Given the description of an element on the screen output the (x, y) to click on. 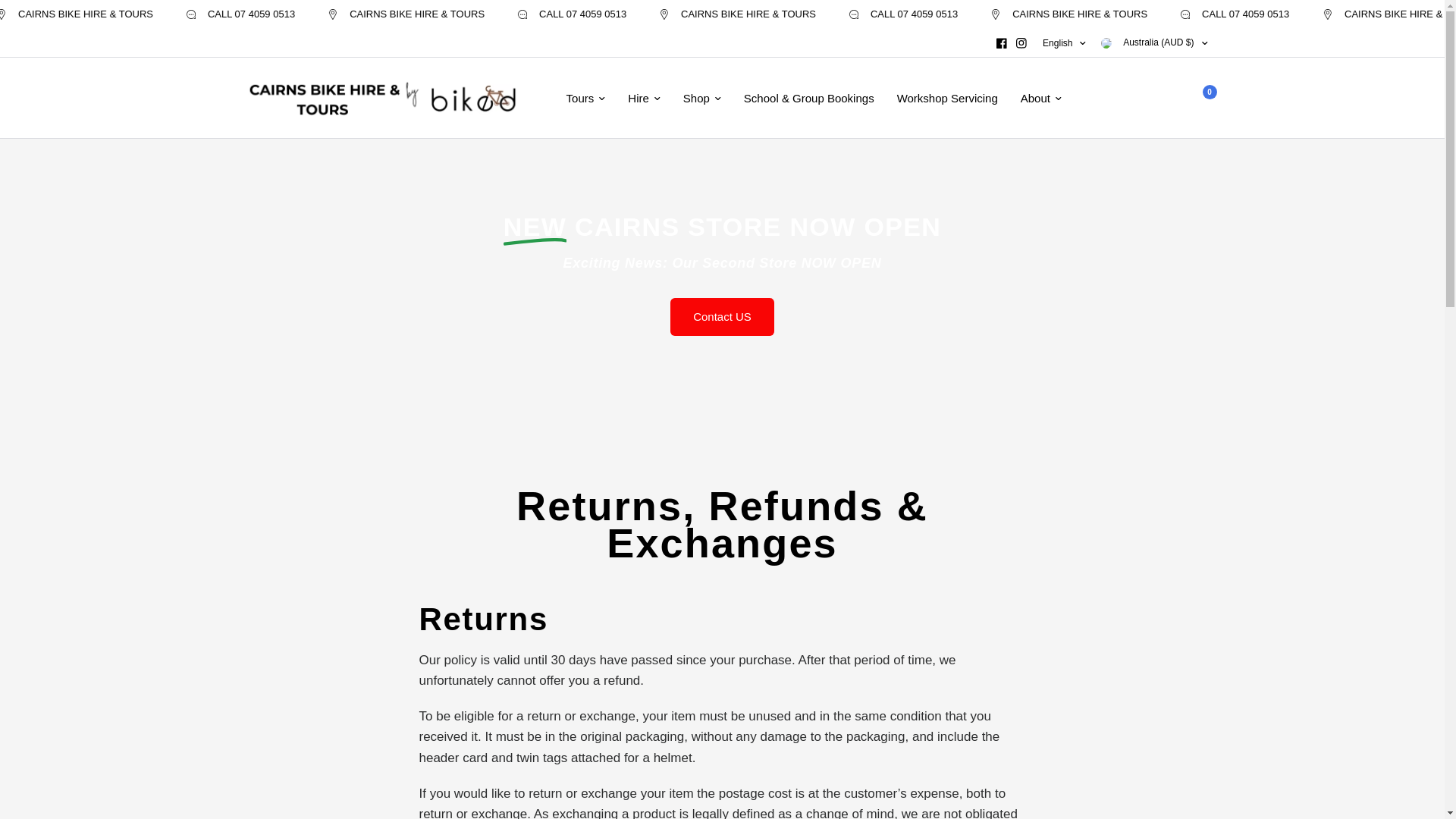
Facebook (1001, 43)
Instagram (1020, 43)
English (1064, 43)
